Given the description of an element on the screen output the (x, y) to click on. 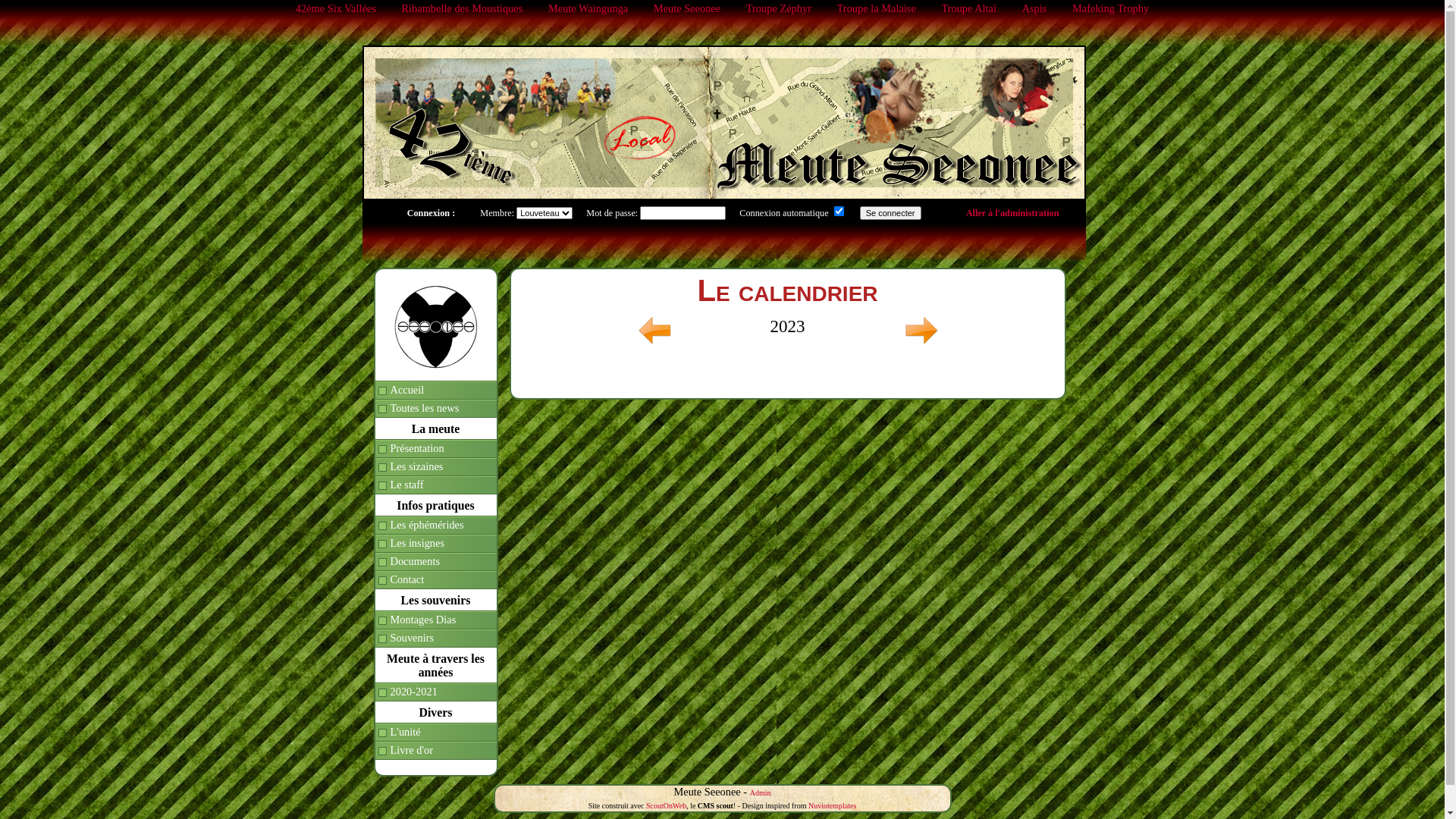
Troupe la Malaise Element type: text (876, 8)
Le staff Element type: text (434, 484)
Aspis Element type: text (1034, 8)
Documents Element type: text (434, 561)
Meute Seeonee Element type: text (686, 8)
Meute Waingunga Element type: text (587, 8)
Nuviotemplates Element type: text (832, 805)
Se connecter Element type: text (890, 212)
Ribambelle des Moustiques Element type: text (461, 8)
Les sizaines Element type: text (434, 466)
ScoutOnWeb Element type: text (666, 805)
Mafeking Trophy Element type: text (1110, 8)
Les insignes Element type: text (434, 543)
Souvenirs Element type: text (434, 638)
Montages Dias Element type: text (434, 619)
Toutes les news Element type: text (434, 408)
Contact Element type: text (434, 579)
2020-2021 Element type: text (434, 692)
Accueil Element type: text (434, 390)
Admin Element type: text (760, 792)
Livre d'or Element type: text (434, 750)
